Given the description of an element on the screen output the (x, y) to click on. 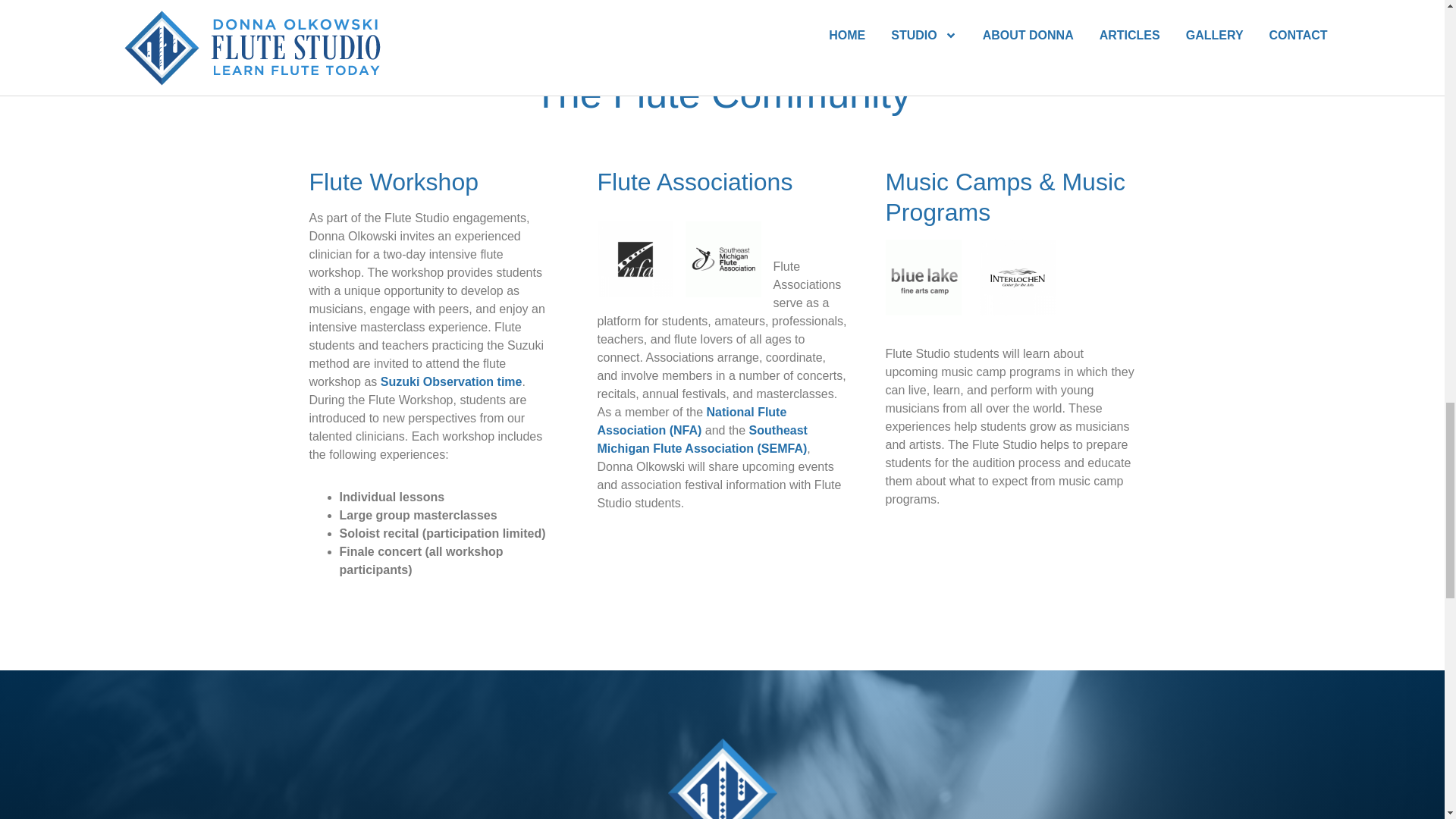
Interlochen Center for the Arts (977, 310)
The National Flute Association (691, 420)
